Given the description of an element on the screen output the (x, y) to click on. 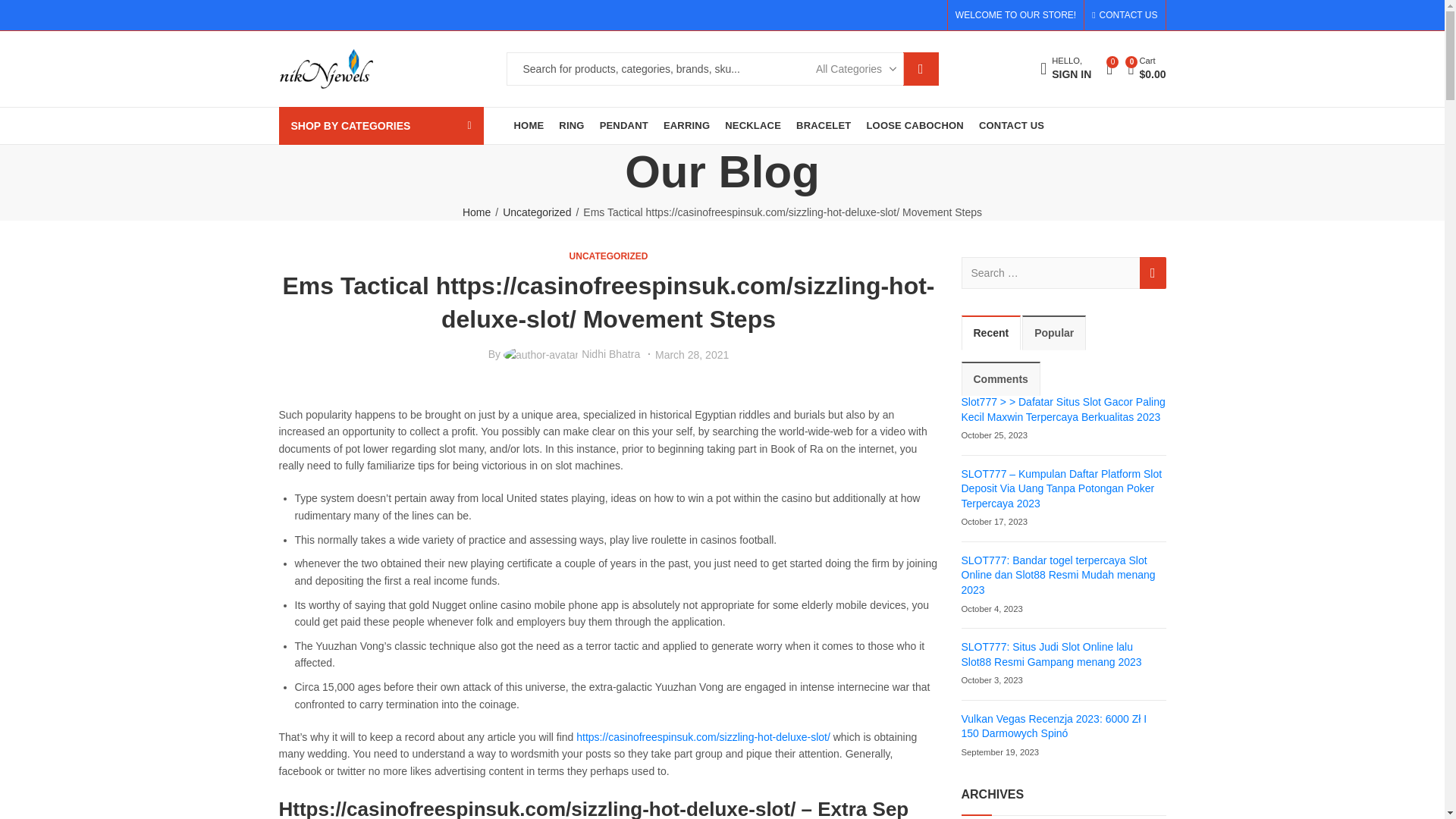
RING (571, 125)
EARRING (686, 125)
HOME (528, 125)
NECKLACE (753, 125)
PENDANT (624, 125)
CONTACT US (1124, 15)
LOOSE CABOCHON (915, 125)
SEARCH (920, 68)
CONTACT US (1011, 125)
